Given the description of an element on the screen output the (x, y) to click on. 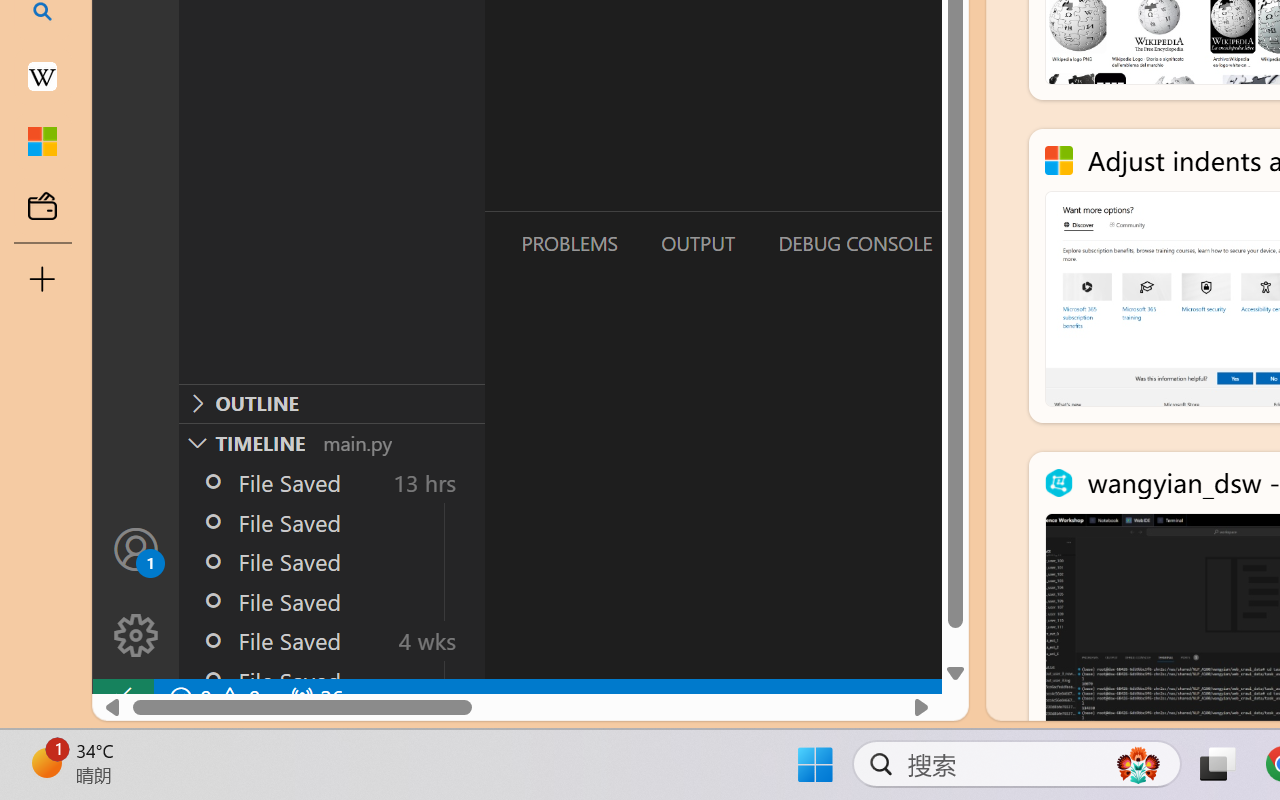
Timeline Section (331, 442)
Manage (135, 635)
Terminal (Ctrl+`) (1021, 243)
Manage (135, 591)
Accounts - Sign in requested (135, 548)
No Problems (212, 698)
Output (Ctrl+Shift+U) (696, 243)
Debug Console (Ctrl+Shift+Y) (854, 243)
Problems (Ctrl+Shift+M) (567, 243)
